Given the description of an element on the screen output the (x, y) to click on. 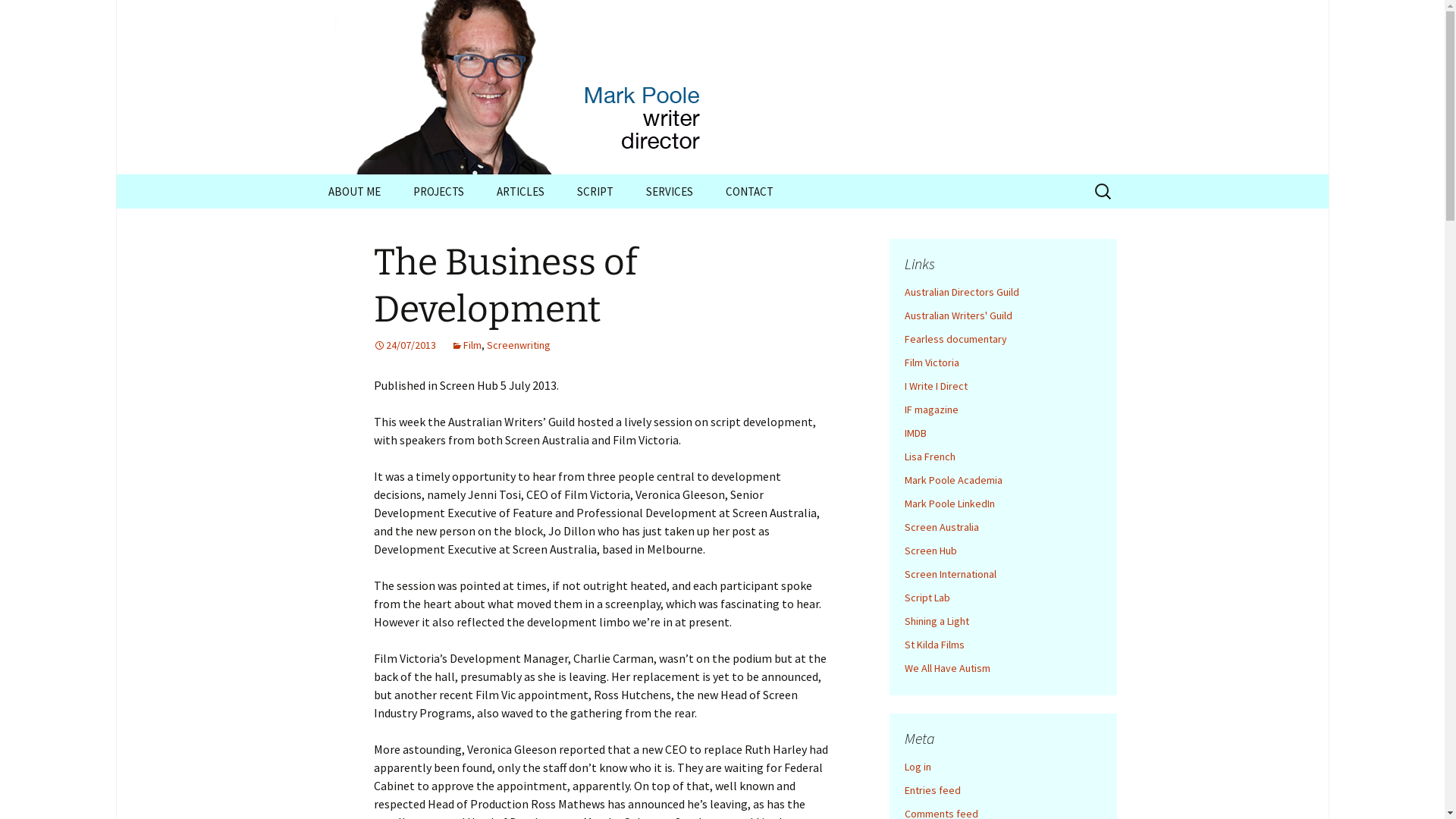
ABOUT ME Element type: text (353, 191)
37 DEGREES SOUTH 2013 Element type: text (556, 225)
Film Element type: text (465, 344)
Australian Writers' Guild Element type: text (957, 315)
Search Element type: text (18, 16)
IF magazine Element type: text (930, 409)
Screen Australia Element type: text (940, 526)
Australian Directors Guild Element type: text (960, 291)
Log in Element type: text (916, 766)
Film Victoria Element type: text (930, 362)
Entries feed Element type: text (931, 790)
PROJECTS Element type: text (437, 191)
St Kilda Films Element type: text (933, 644)
24/07/2013 Element type: text (404, 344)
Screen International Element type: text (949, 573)
Screenwriting Element type: text (518, 344)
CONTACT Element type: text (748, 191)
I Write I Direct Element type: text (934, 385)
Script Lab Element type: text (926, 597)
Fearless documentary Element type: text (954, 338)
Skip to content Element type: text (312, 173)
Mark Poole LinkedIn Element type: text (948, 503)
Mark Poole Academia Element type: text (952, 479)
Screen Hub Element type: text (929, 550)
SERVICES Element type: text (669, 191)
SCRIPT Element type: text (594, 191)
Lisa French Element type: text (928, 456)
We All Have Autism Element type: text (946, 667)
ARTICLES Element type: text (519, 191)
Mark Poole
writer and director based in Melbourne, Australia Element type: text (721, 87)
Shining a Light Element type: text (935, 620)
IMDB Element type: text (914, 432)
